Given the description of an element on the screen output the (x, y) to click on. 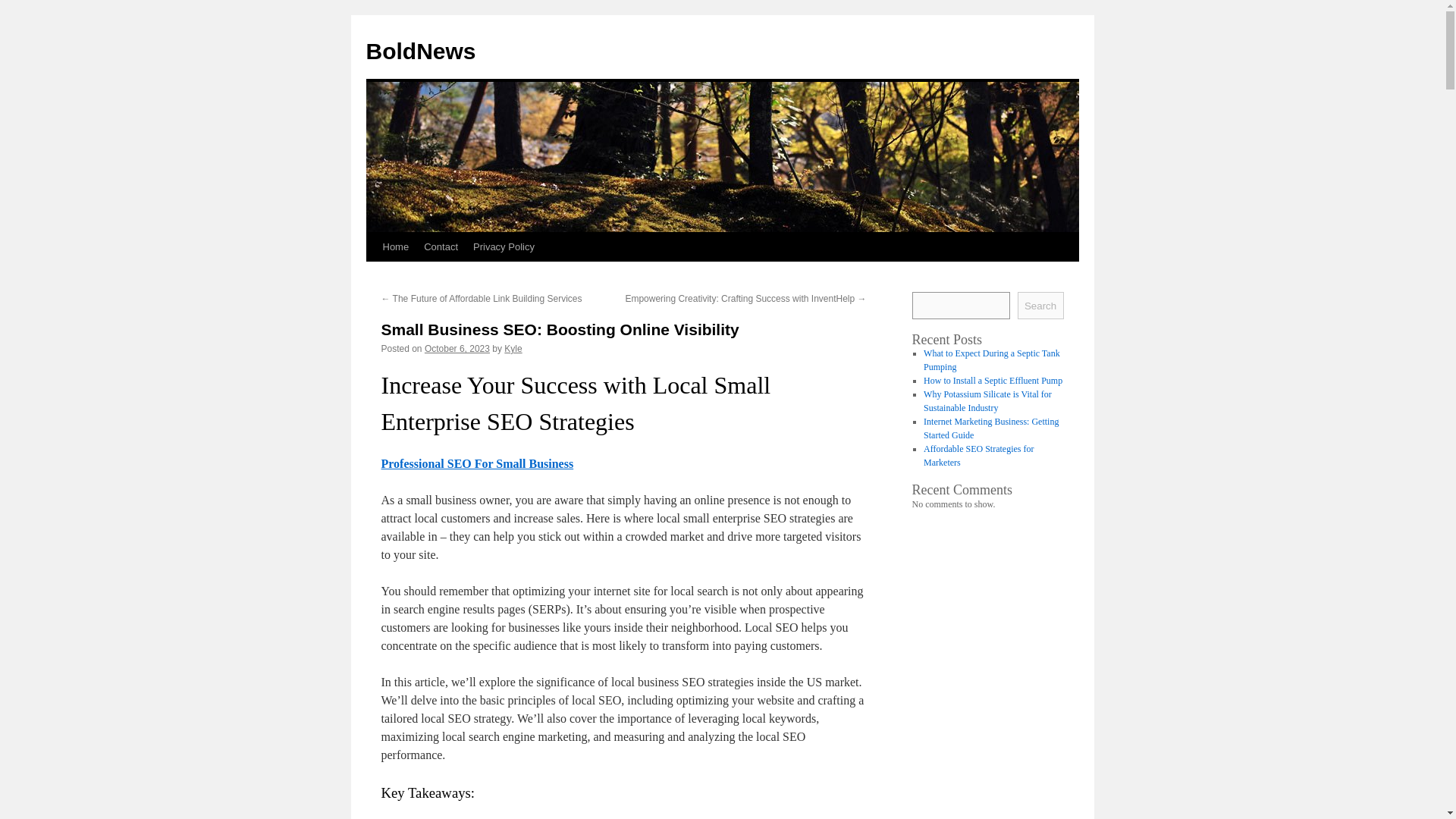
Contact (440, 246)
Privacy Policy (503, 246)
Why Potassium Silicate is Vital for Sustainable Industry (987, 401)
Home (395, 246)
Affordable SEO Strategies for Marketers (978, 455)
How to Install a Septic Effluent Pump (992, 380)
Professional SEO For Small Business (476, 463)
Search (1040, 305)
October 6, 2023 (457, 348)
View all posts by Kyle (512, 348)
